Given the description of an element on the screen output the (x, y) to click on. 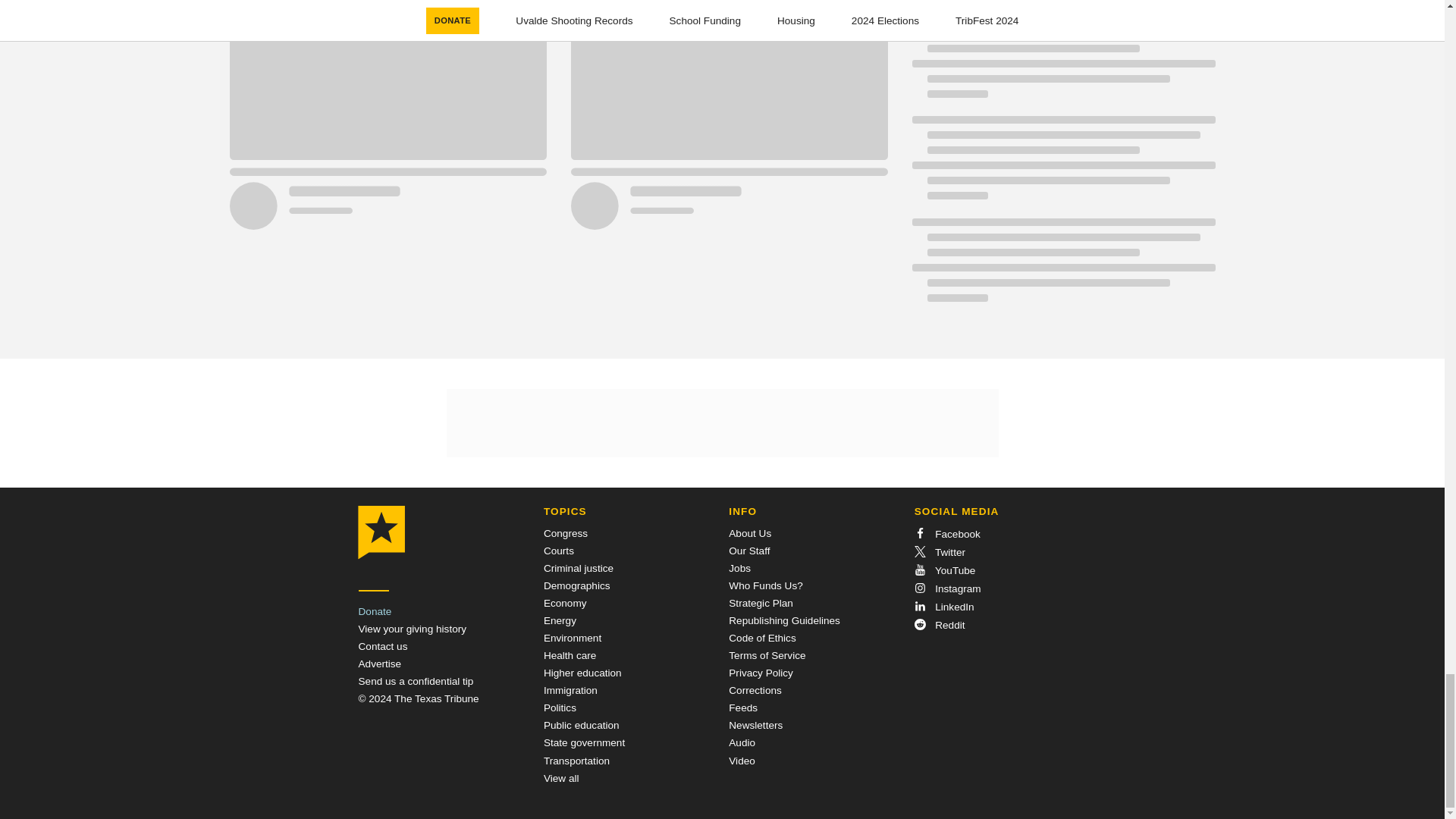
Republishing Guidelines (784, 620)
Audio (742, 742)
Code of Ethics (761, 637)
Advertise (379, 663)
Terms of Service (767, 655)
Who Funds Us? (765, 585)
Loading indicator (1062, 5)
Send a Tip (415, 681)
Video (742, 760)
Newsletters (756, 725)
